Given the description of an element on the screen output the (x, y) to click on. 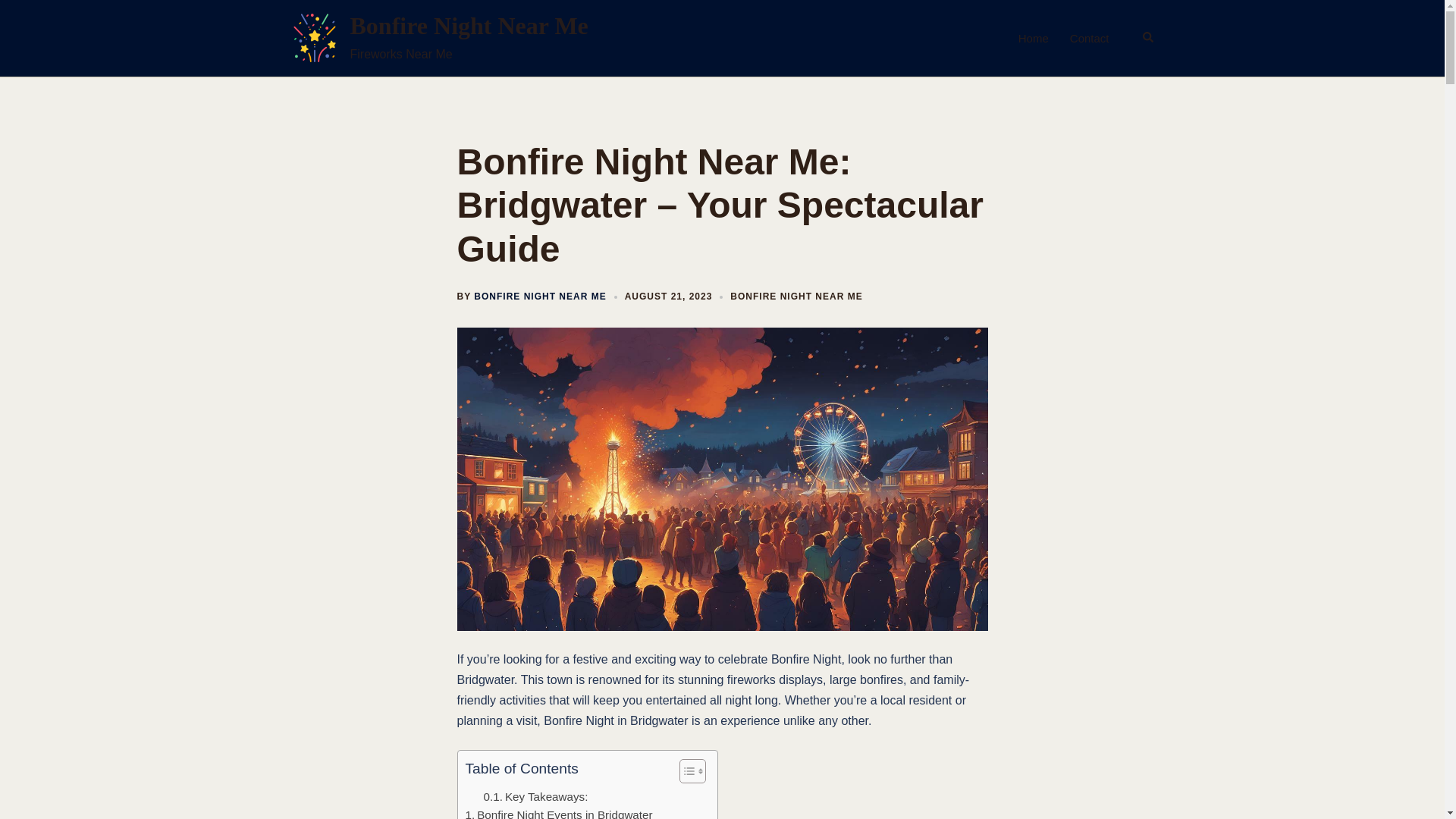
Contact (1089, 38)
AUGUST 21, 2023 (668, 296)
Bonfire Night Near Me (313, 37)
Key Takeaways: (535, 796)
Home (1032, 38)
Bonfire Night Events in Bridgwater (558, 812)
BONFIRE NIGHT NEAR ME (795, 296)
BONFIRE NIGHT NEAR ME (539, 296)
Bonfire Night Near Me (469, 25)
Key Takeaways: (535, 796)
